Given the description of an element on the screen output the (x, y) to click on. 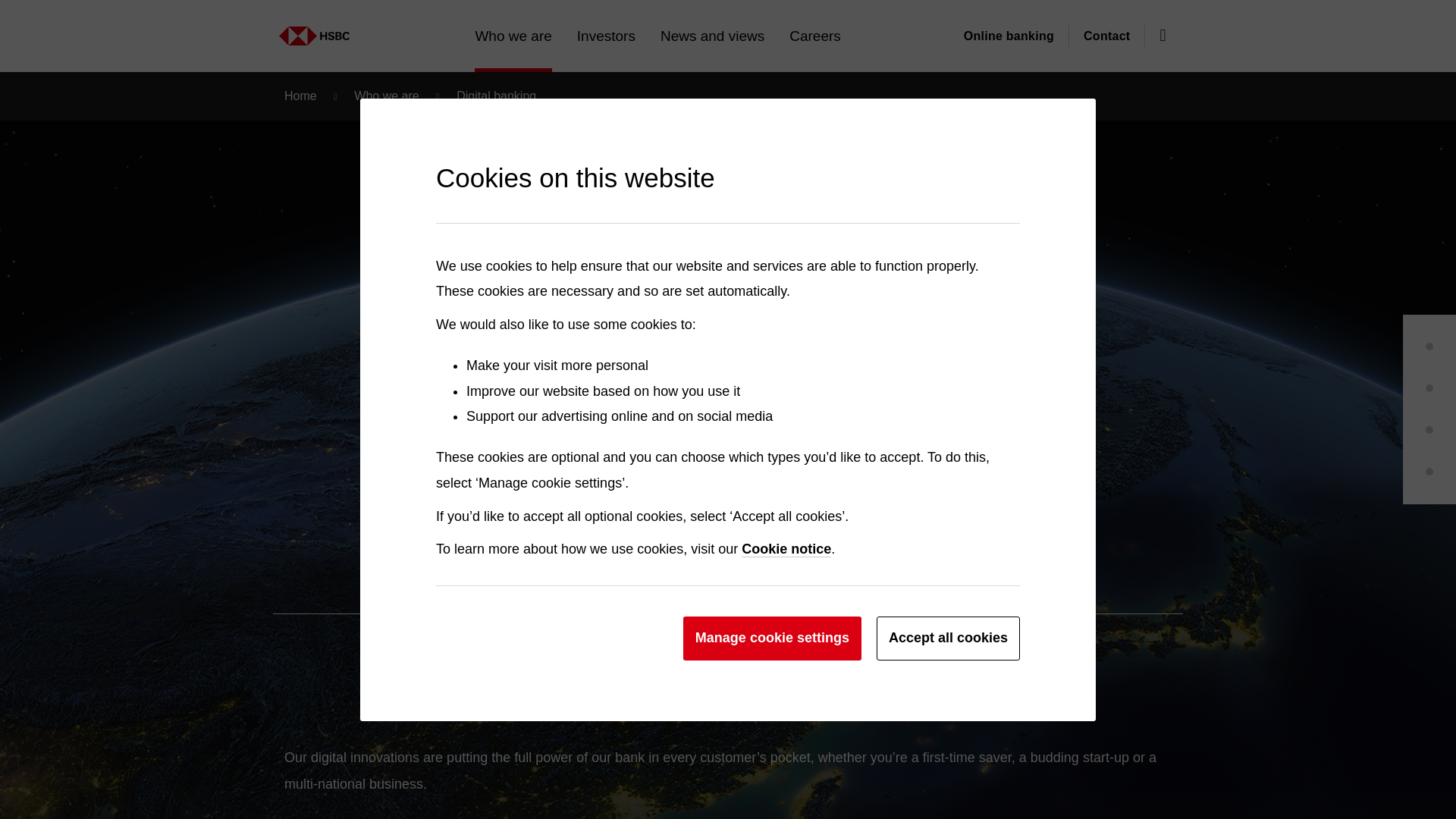
Home (322, 35)
Who we are (280, 28)
